Given the description of an element on the screen output the (x, y) to click on. 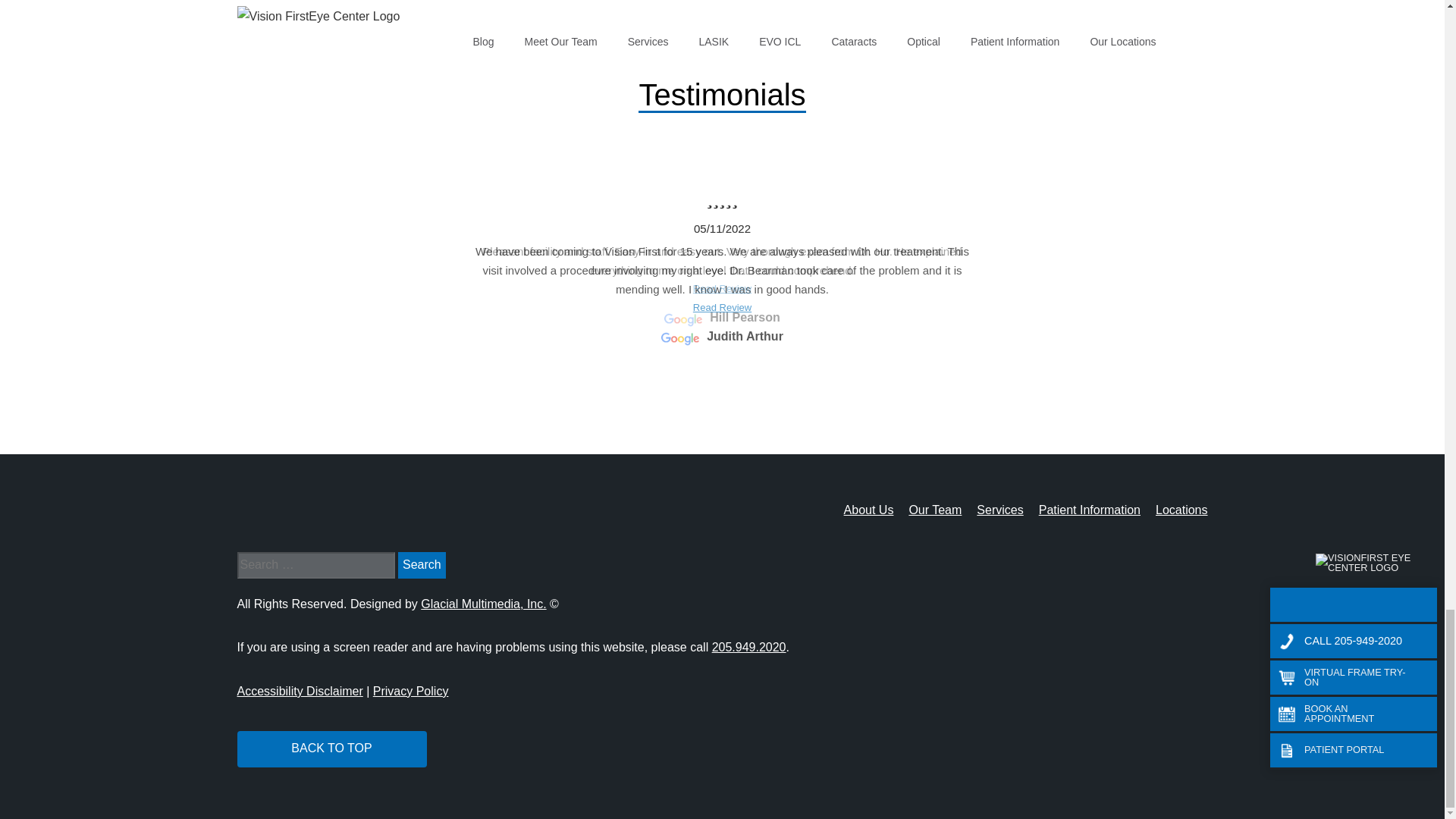
Search (421, 565)
Search (421, 565)
